Given the description of an element on the screen output the (x, y) to click on. 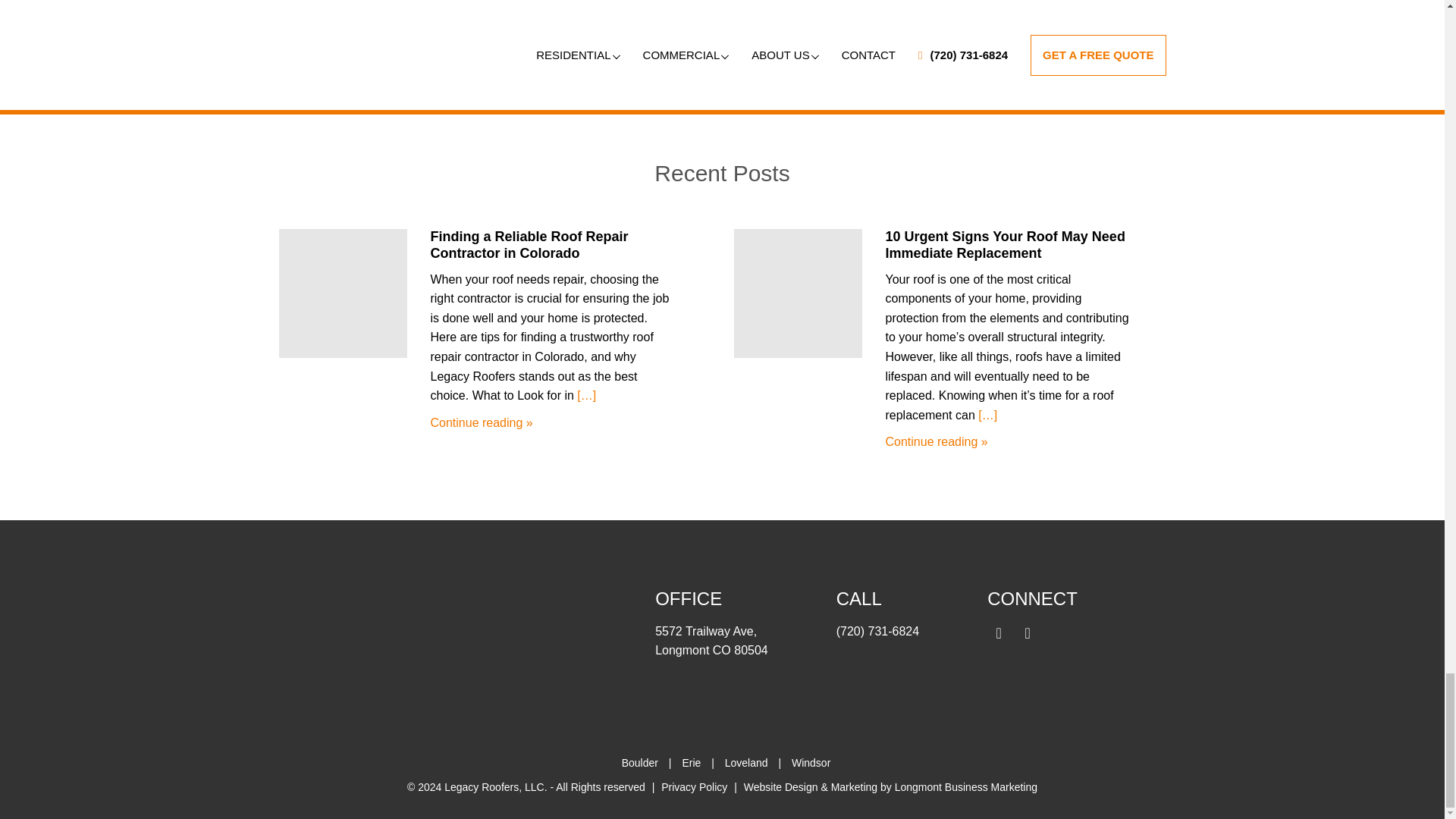
10 Urgent Signs Your Roof May Need Immediate Replacement (1004, 245)
Finding a Reliable Roof Repair Contractor in Colorado (528, 245)
Reviews (721, 48)
